Given the description of an element on the screen output the (x, y) to click on. 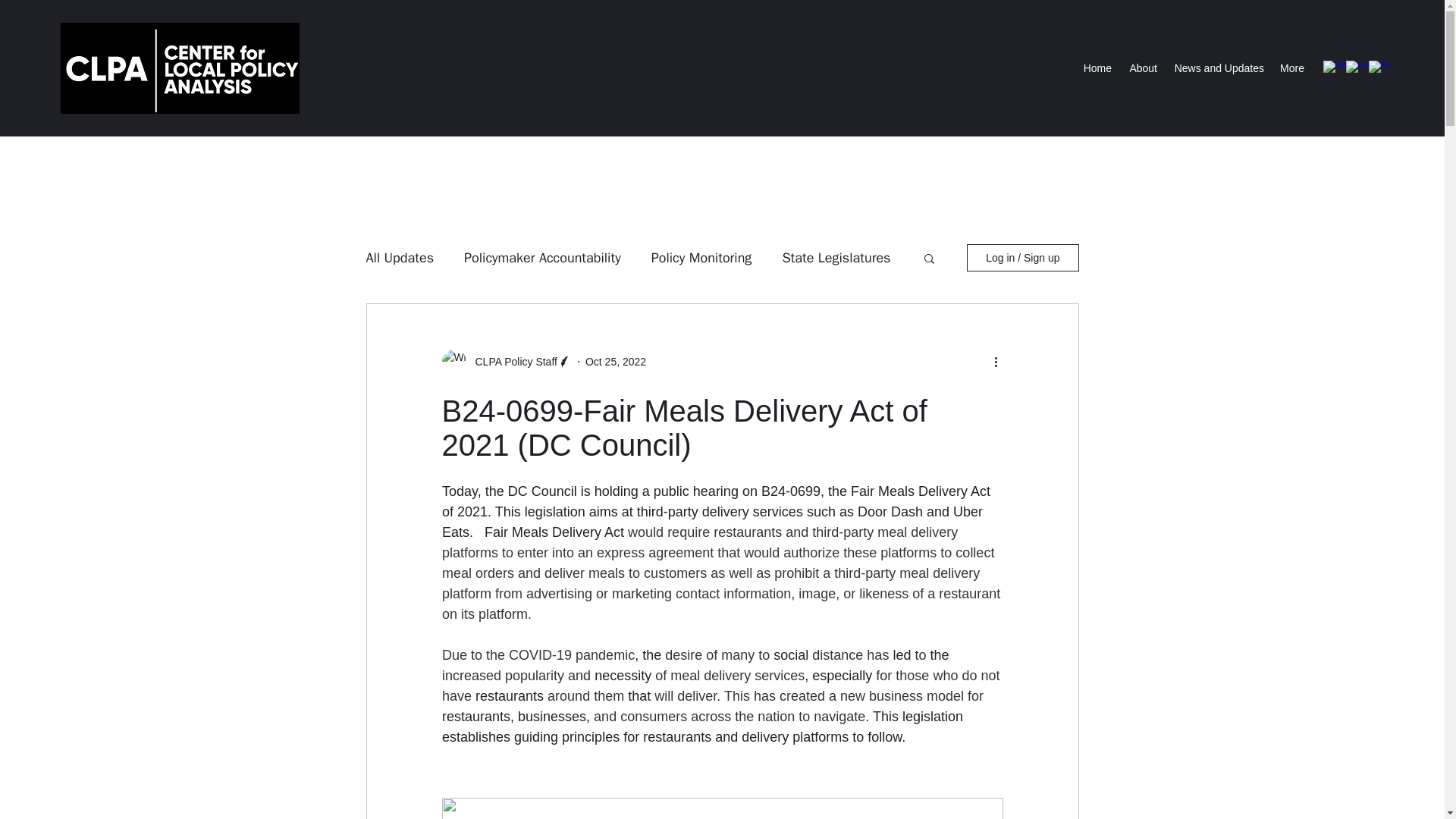
News and Updates (1217, 67)
Policy Monitoring (701, 257)
Oct 25, 2022 (615, 360)
About (1141, 67)
Home (1097, 67)
State Legislatures (835, 257)
All Updates (399, 257)
Policymaker Accountability (542, 257)
CLPA Policy Staff (510, 360)
